Given the description of an element on the screen output the (x, y) to click on. 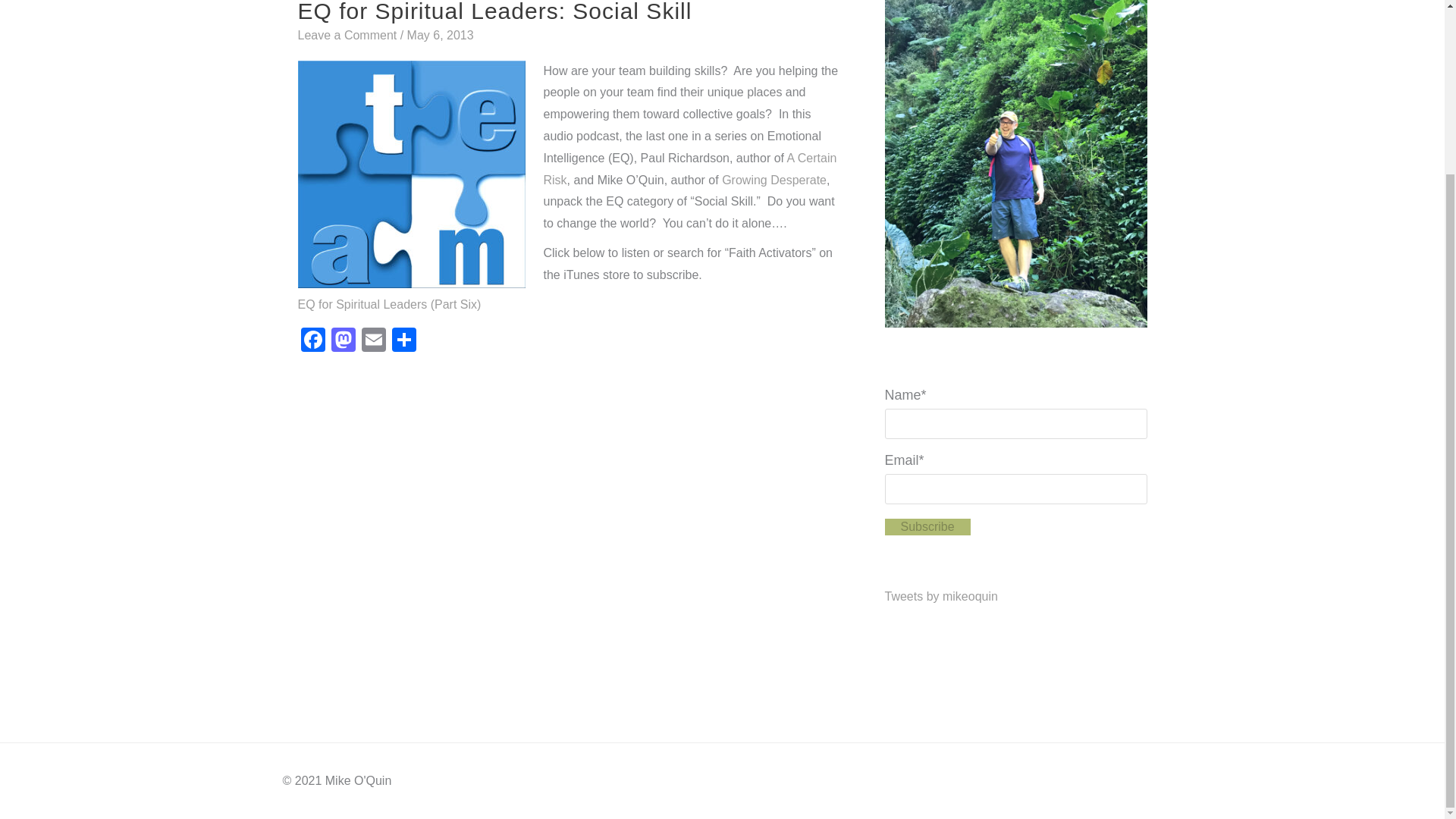
Leave a Comment (346, 34)
Share (403, 341)
A Certain Risk (689, 168)
Subscribe (926, 526)
Mastodon (342, 341)
Growing Desperate (774, 179)
EQ for Spiritual Leaders: Social Skill (494, 11)
Mastodon (342, 341)
Email (373, 341)
Tweets by mikeoquin (940, 595)
Facebook (312, 341)
Subscribe (926, 526)
Email (373, 341)
Facebook (312, 341)
